Given the description of an element on the screen output the (x, y) to click on. 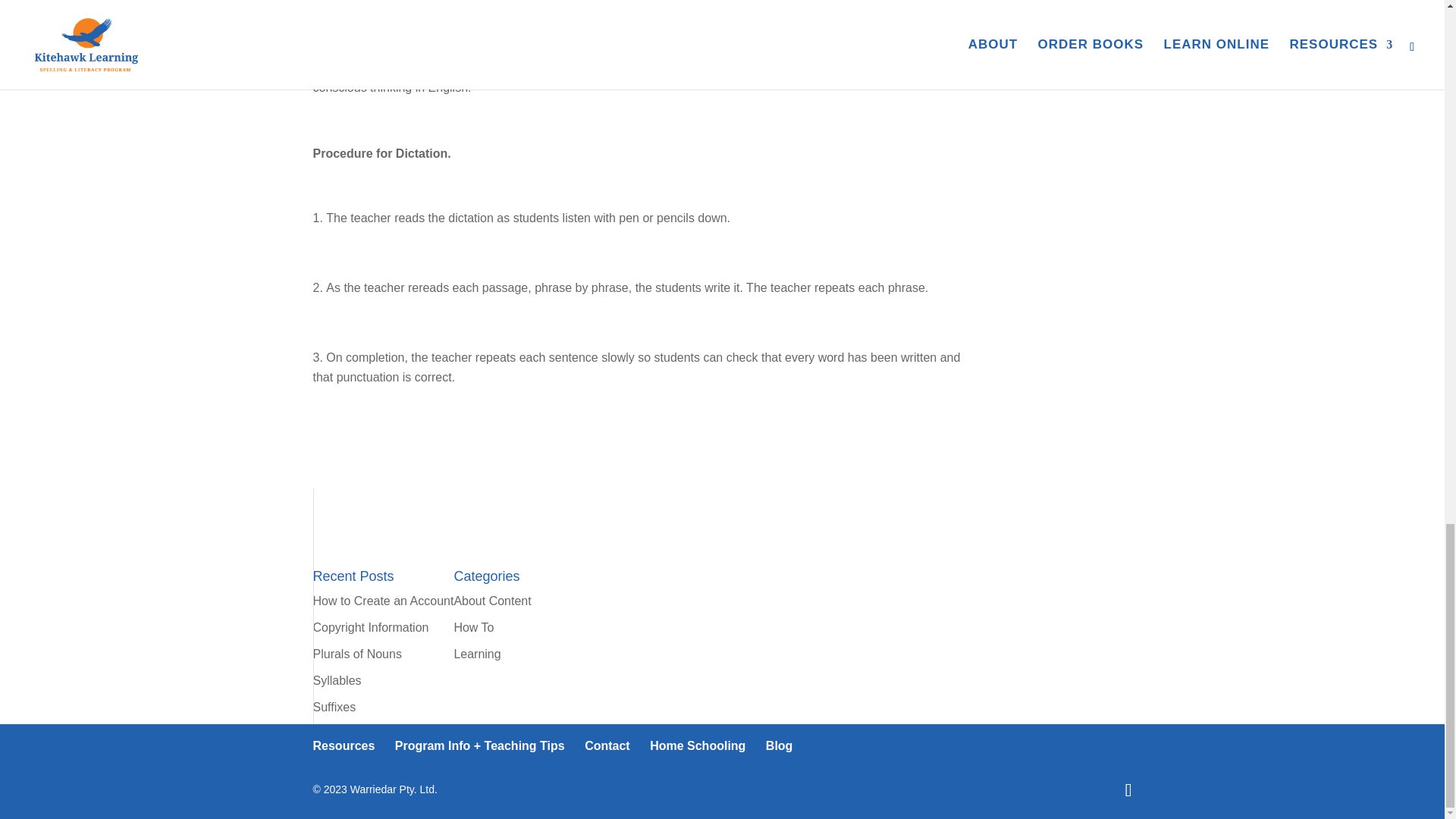
Contact (607, 745)
Learning (476, 653)
About Content (491, 600)
Blog (779, 745)
Home Schooling (697, 745)
Resources (343, 745)
Syllables (337, 680)
How To (472, 626)
Copyright Information (370, 626)
Suffixes (334, 707)
